Given the description of an element on the screen output the (x, y) to click on. 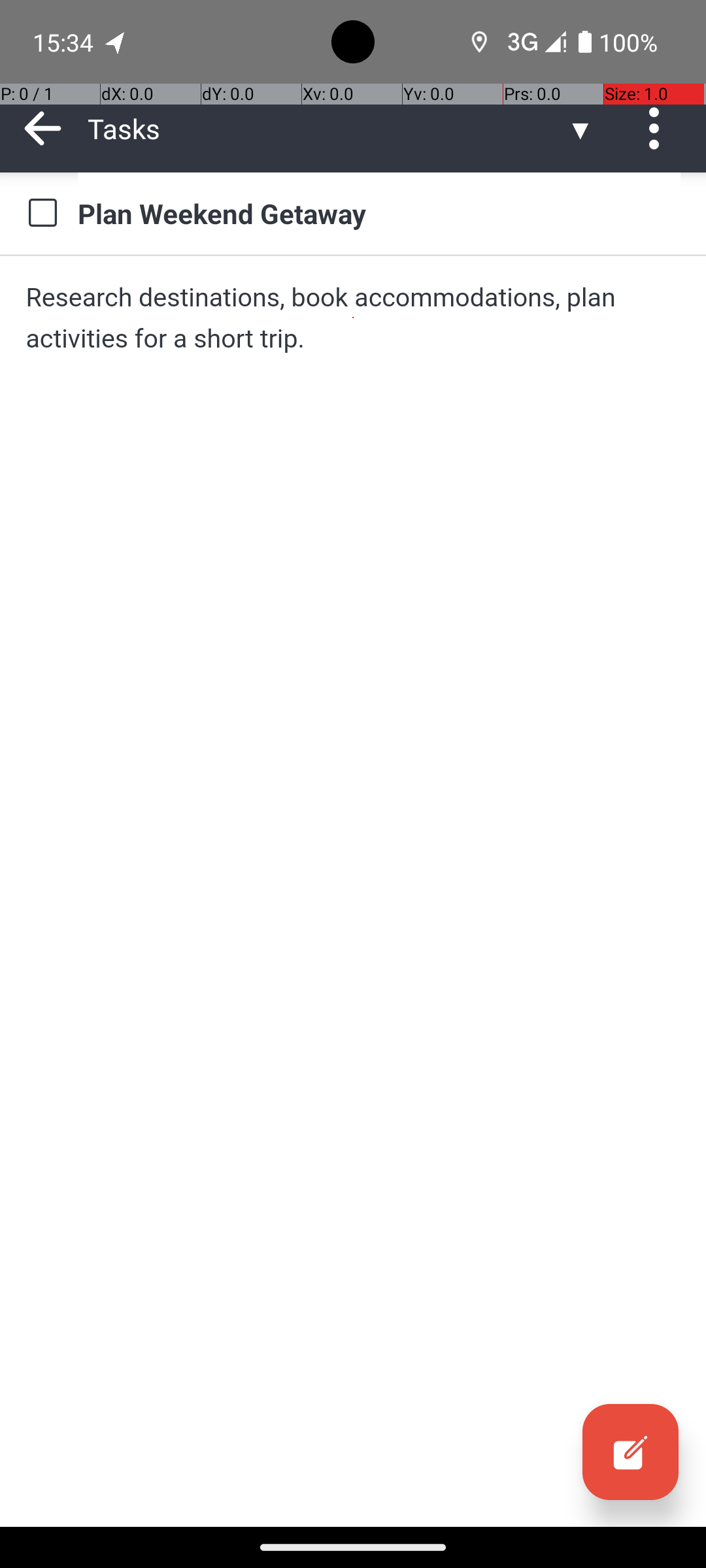
Plan Weekend Getaway Element type: android.widget.EditText (378, 213)
Tasks Element type: android.widget.TextView (326, 128)
Research destinations, book accommodations, plan activities for a short trip. Element type: android.widget.TextView (352, 317)
